Given the description of an element on the screen output the (x, y) to click on. 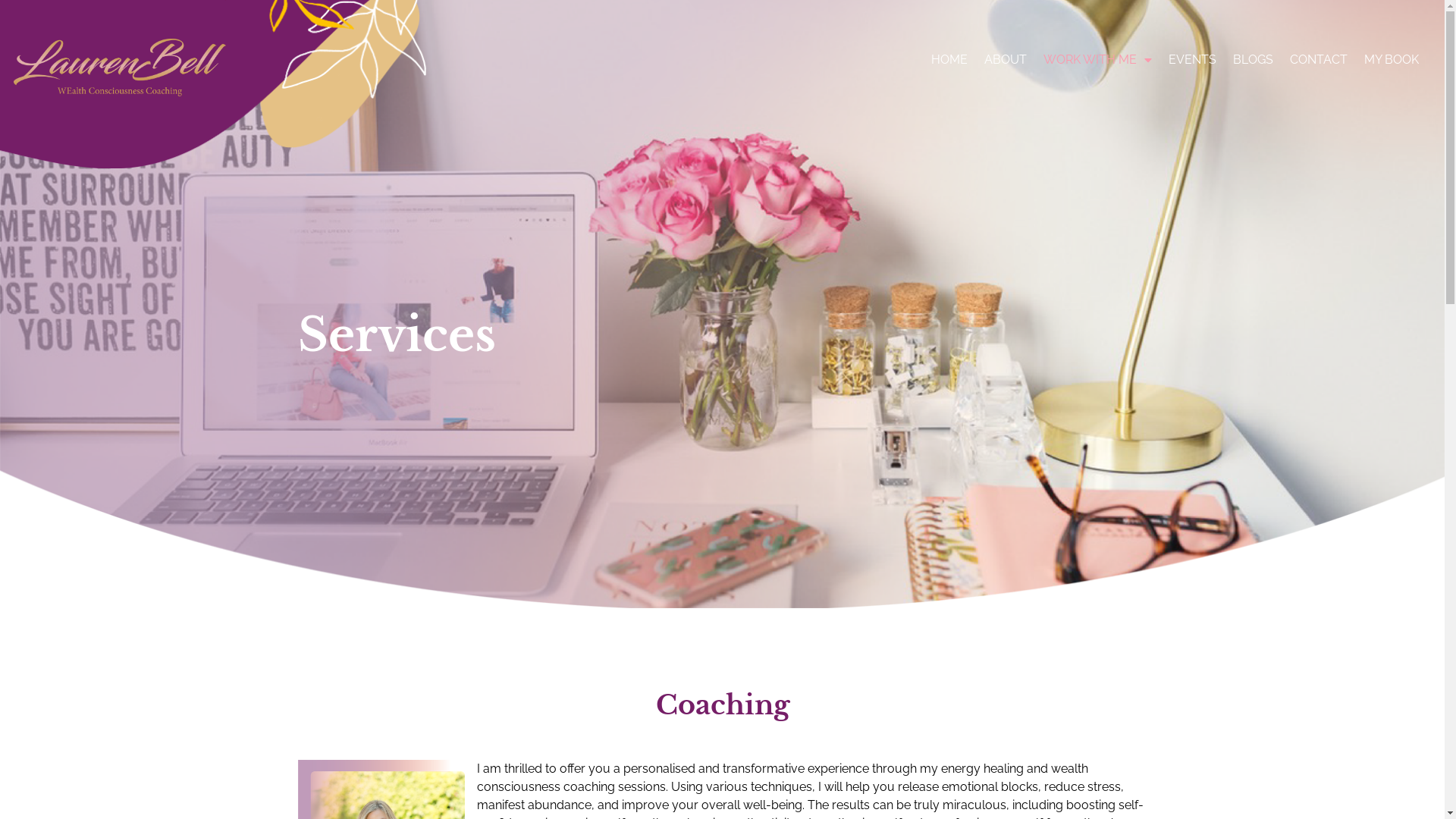
HOME Element type: text (948, 59)
CONTACT Element type: text (1318, 59)
WORK WITH ME Element type: text (1097, 59)
BLOGS Element type: text (1252, 59)
EVENTS Element type: text (1192, 59)
MY BOOK Element type: text (1391, 59)
ABOUT Element type: text (1005, 59)
